Given the description of an element on the screen output the (x, y) to click on. 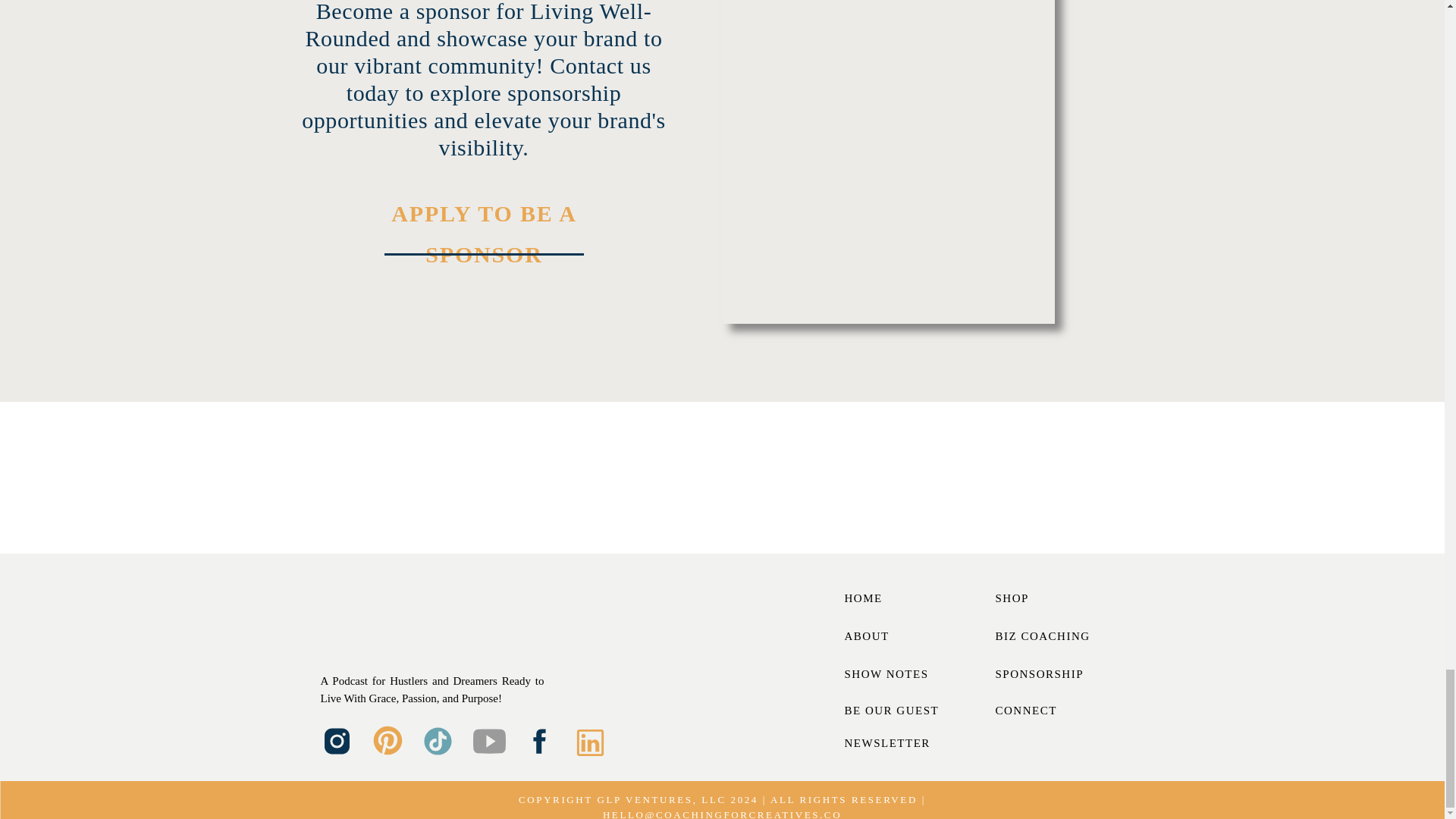
APPLY TO BE A SPONSOR (482, 216)
